Given the description of an element on the screen output the (x, y) to click on. 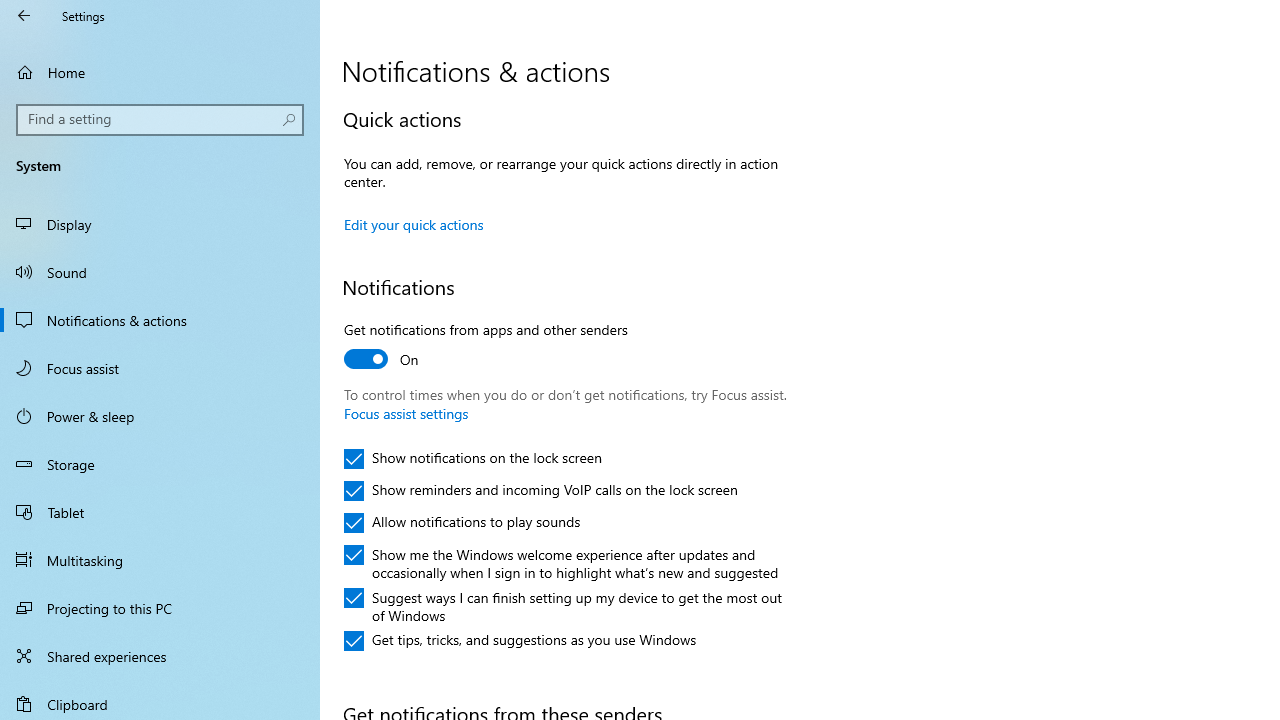
Notifications & actions (160, 319)
Focus assist settings (406, 413)
Show reminders and incoming VoIP calls on the lock screen (541, 490)
Projecting to this PC (160, 607)
Tablet (160, 511)
